Given the description of an element on the screen output the (x, y) to click on. 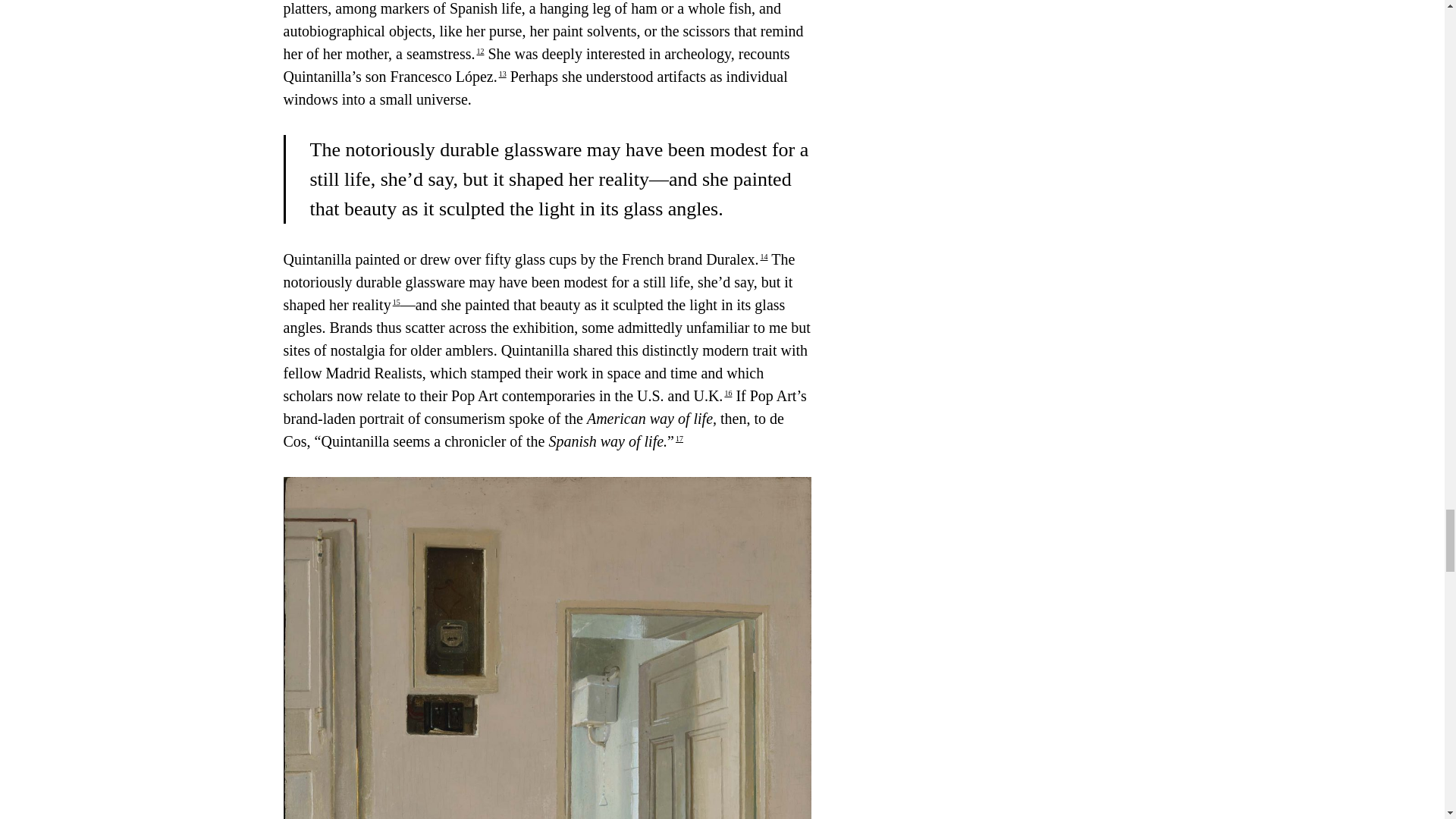
17 (678, 438)
15 (396, 302)
16 (727, 393)
14 (764, 256)
13 (502, 73)
12 (479, 50)
